Given the description of an element on the screen output the (x, y) to click on. 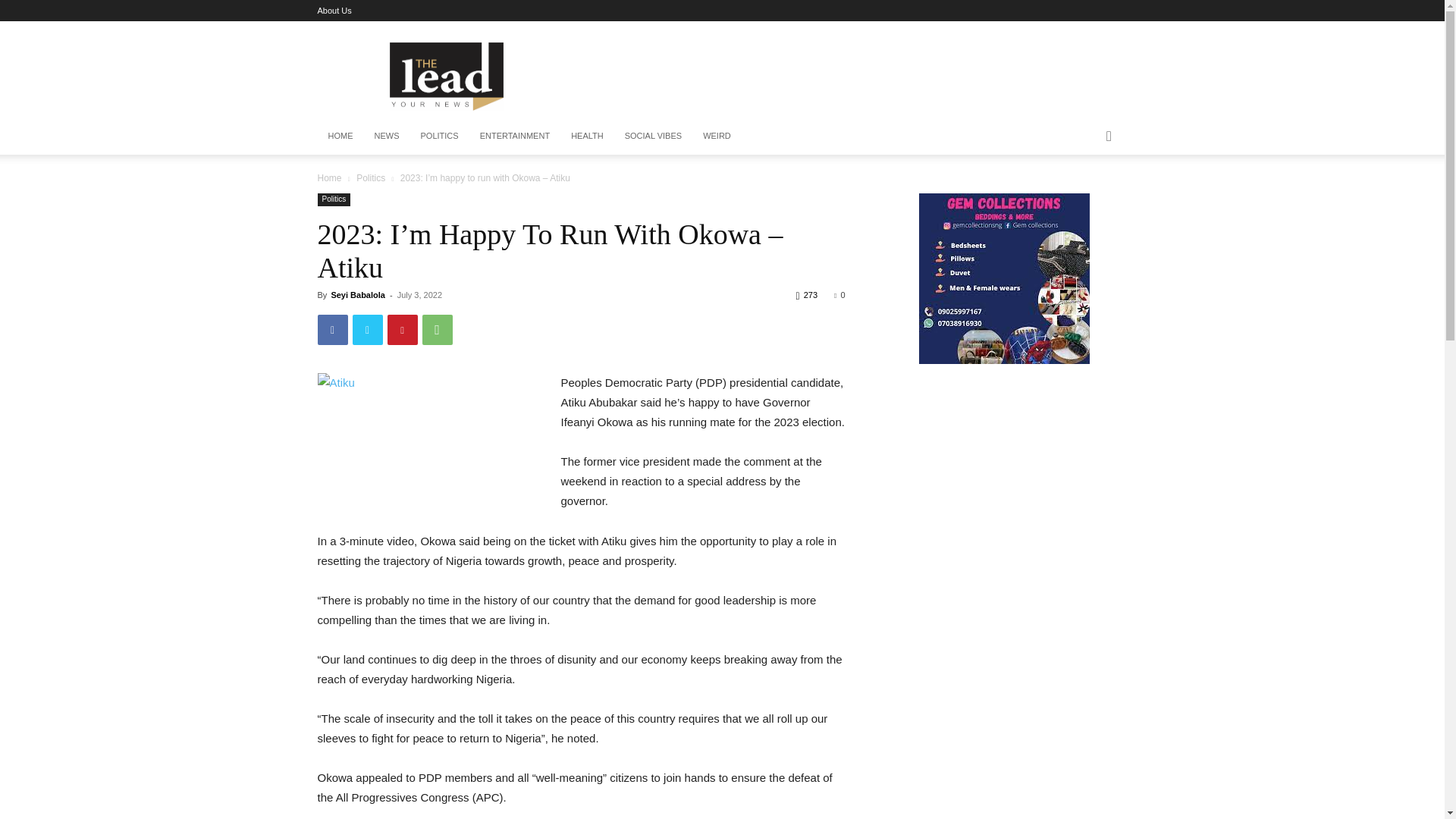
About Us (333, 10)
Politics (333, 199)
Twitter (366, 329)
View all posts in Politics (370, 177)
Seyi Babalola (357, 294)
0 (839, 294)
SOCIAL VIBES (653, 135)
HOME (339, 135)
Search (1085, 197)
Facebook (332, 329)
HEALTH (587, 135)
ENTERTAINMENT (514, 135)
Politics (370, 177)
atiku (430, 437)
POLITICS (438, 135)
